Given the description of an element on the screen output the (x, y) to click on. 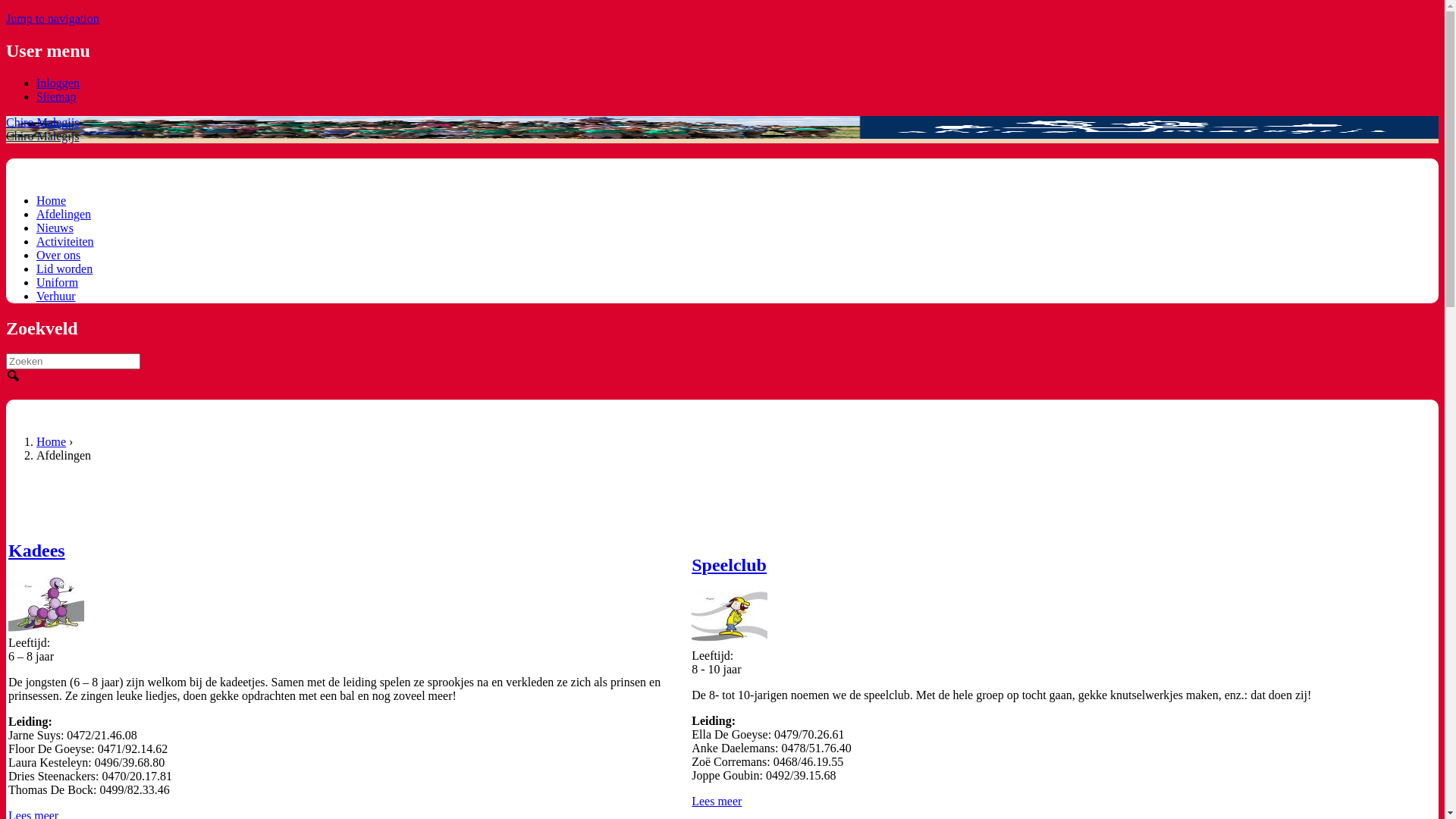
Kadees Element type: hover (46, 604)
Chiro Malegijs Element type: text (42, 135)
Verhuur Element type: text (55, 295)
Speelclub Element type: hover (729, 617)
Sitemap Element type: text (55, 96)
Lees meer Element type: text (716, 800)
Speelclub Element type: text (728, 564)
Chiro Malegijs Element type: text (42, 122)
Activiteiten Element type: text (65, 241)
Inloggen Element type: text (57, 82)
Kadees Element type: text (36, 550)
Geef de woorden op waarnaar u wilt zoeken. Element type: hover (73, 361)
Jump to navigation Element type: text (52, 18)
Home Element type: text (50, 200)
Home Element type: text (50, 441)
Over ons Element type: text (58, 254)
Uniform Element type: text (57, 282)
Lid worden Element type: text (64, 268)
Nieuws Element type: text (54, 227)
Afdelingen Element type: text (63, 213)
